Given the description of an element on the screen output the (x, y) to click on. 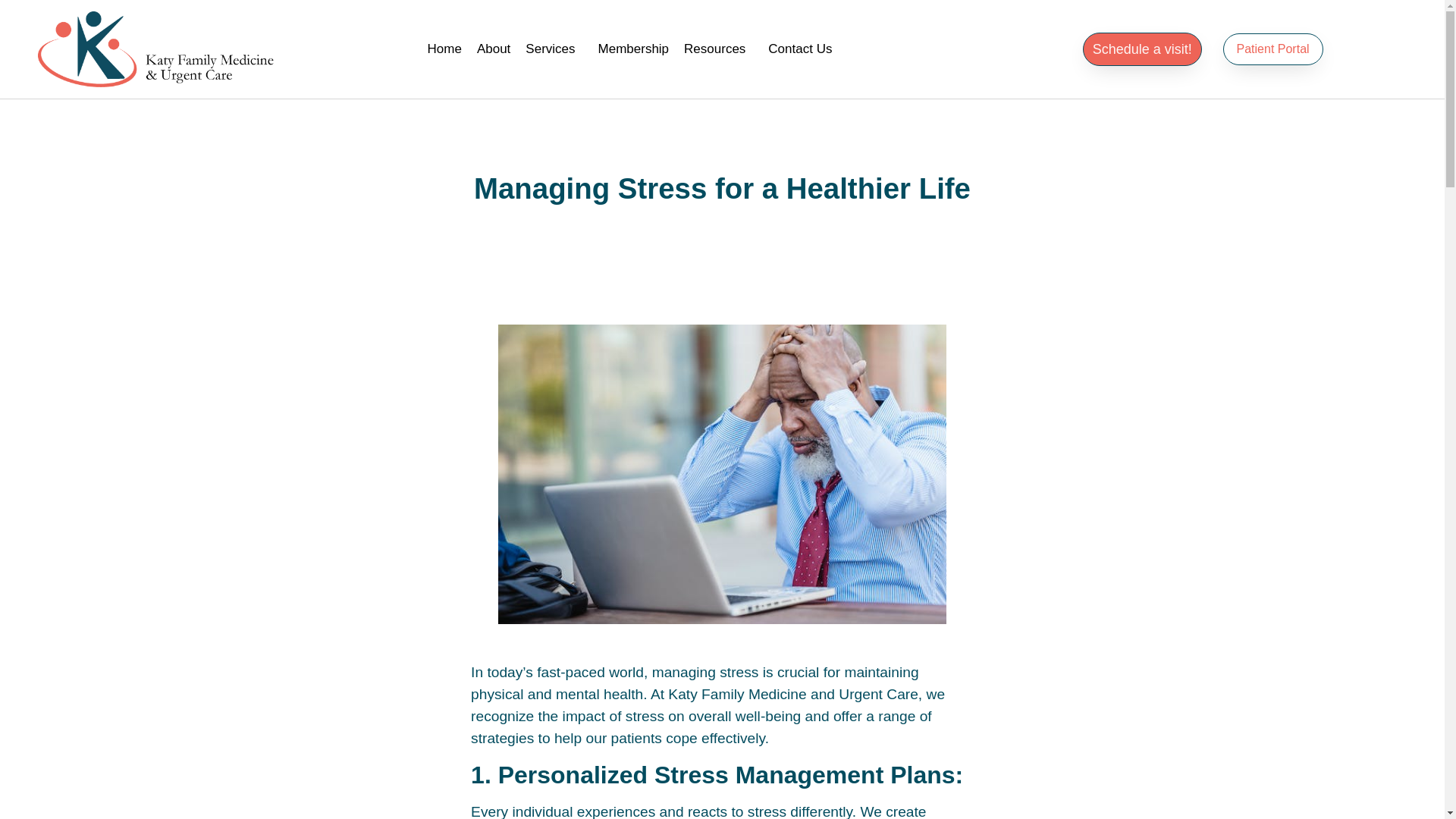
Schedule a visit! (1142, 49)
Patient Portal (1273, 49)
Resources (718, 48)
Contact Us (800, 48)
Services (553, 48)
Membership (634, 48)
Home (444, 48)
About (493, 48)
